Given the description of an element on the screen output the (x, y) to click on. 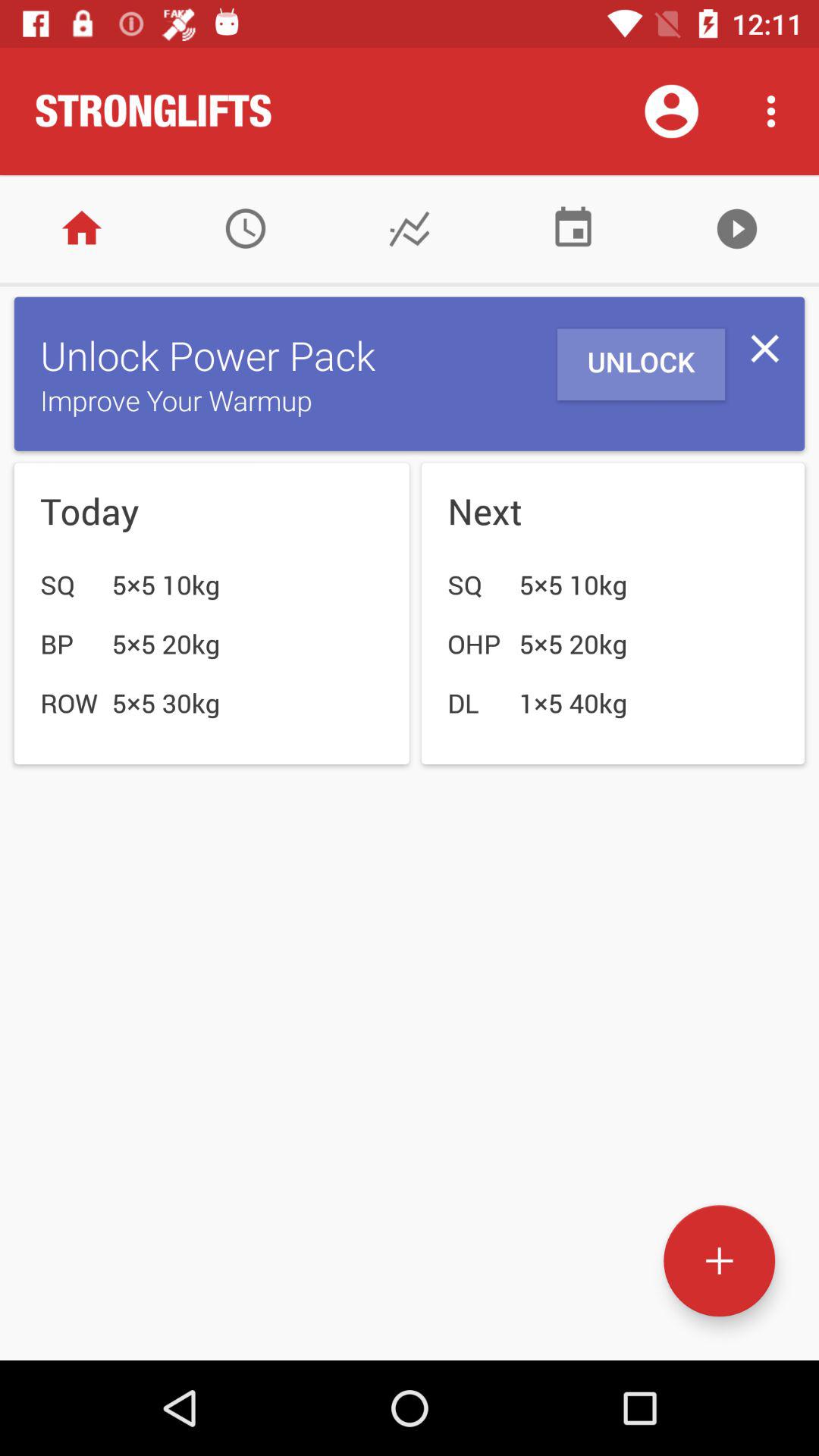
close the option (764, 348)
